Given the description of an element on the screen output the (x, y) to click on. 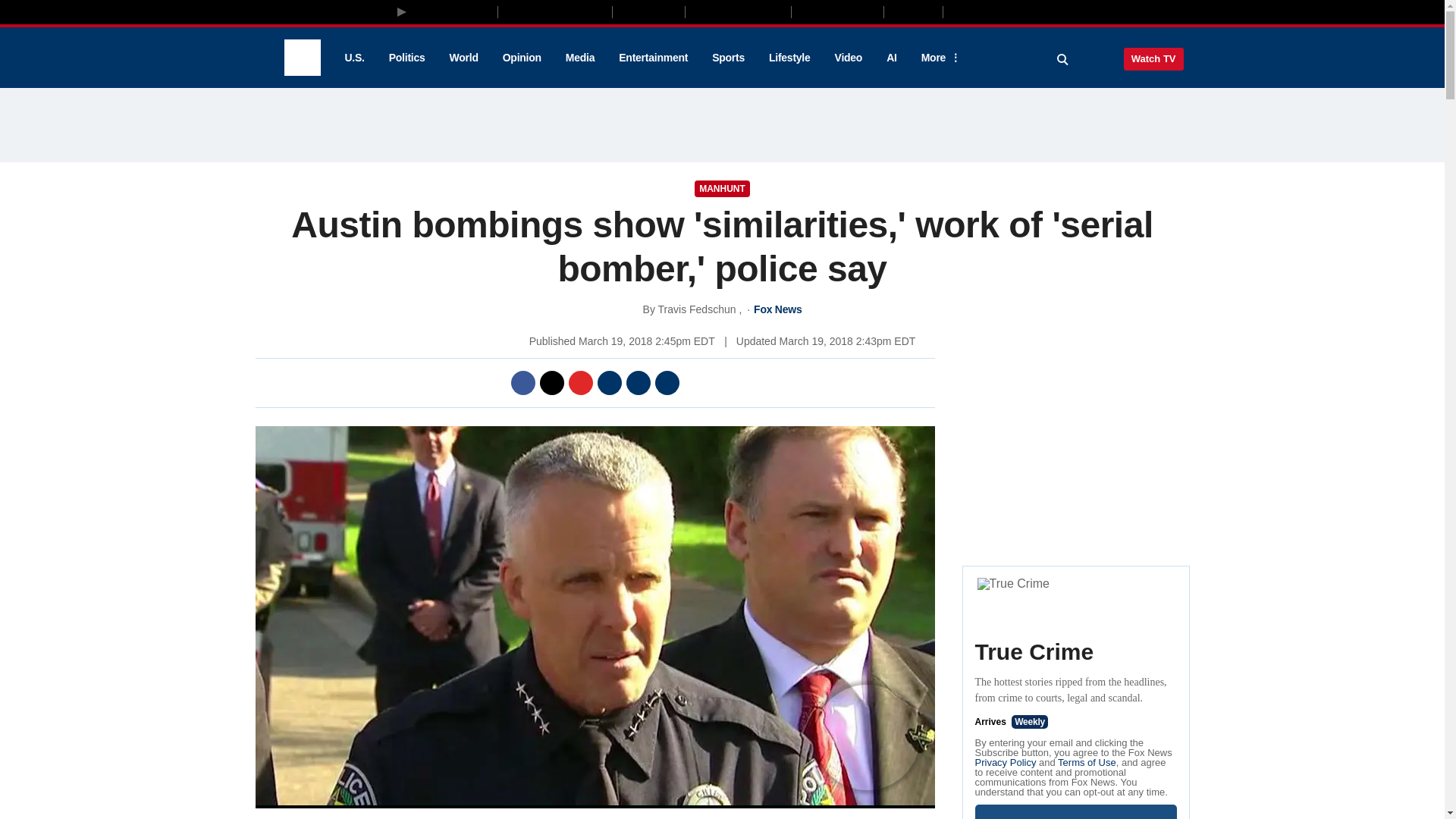
Opinion (521, 57)
Fox News Media (453, 11)
More (938, 57)
World (464, 57)
Fox Business (554, 11)
Fox News (301, 57)
Books (1007, 11)
Video (848, 57)
Fox News Audio (737, 11)
Entertainment (653, 57)
Fox Weather (836, 11)
Watch TV (1153, 58)
AI (891, 57)
Media (580, 57)
Outkick (912, 11)
